Given the description of an element on the screen output the (x, y) to click on. 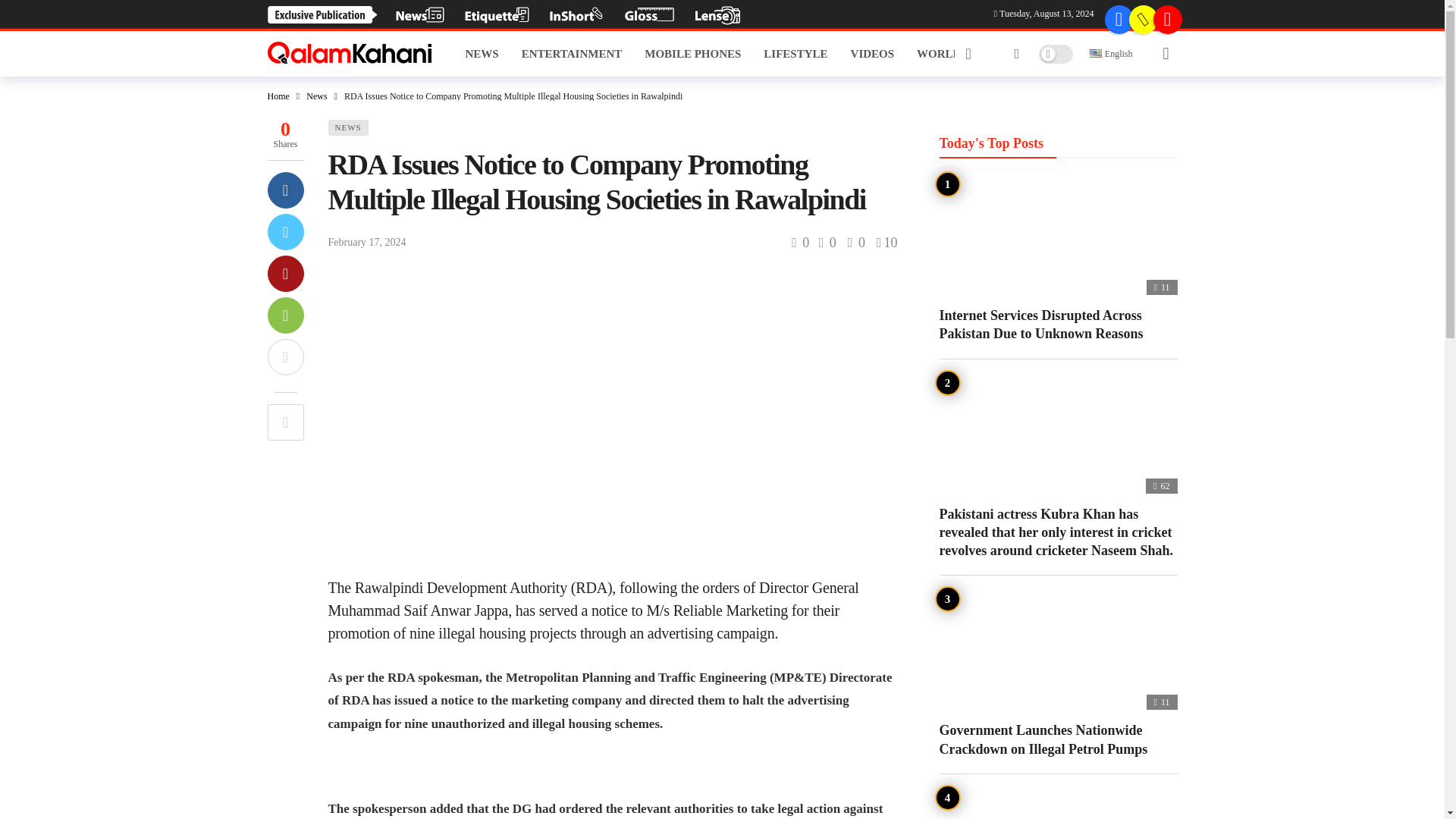
Add Bookmark (284, 422)
English (1095, 52)
LIFESTYLE (795, 53)
MOBILE PHONES (692, 53)
VIDEOS (872, 53)
WORLD (938, 53)
ENTERTAINMENT (572, 53)
NEWS (480, 53)
